Given the description of an element on the screen output the (x, y) to click on. 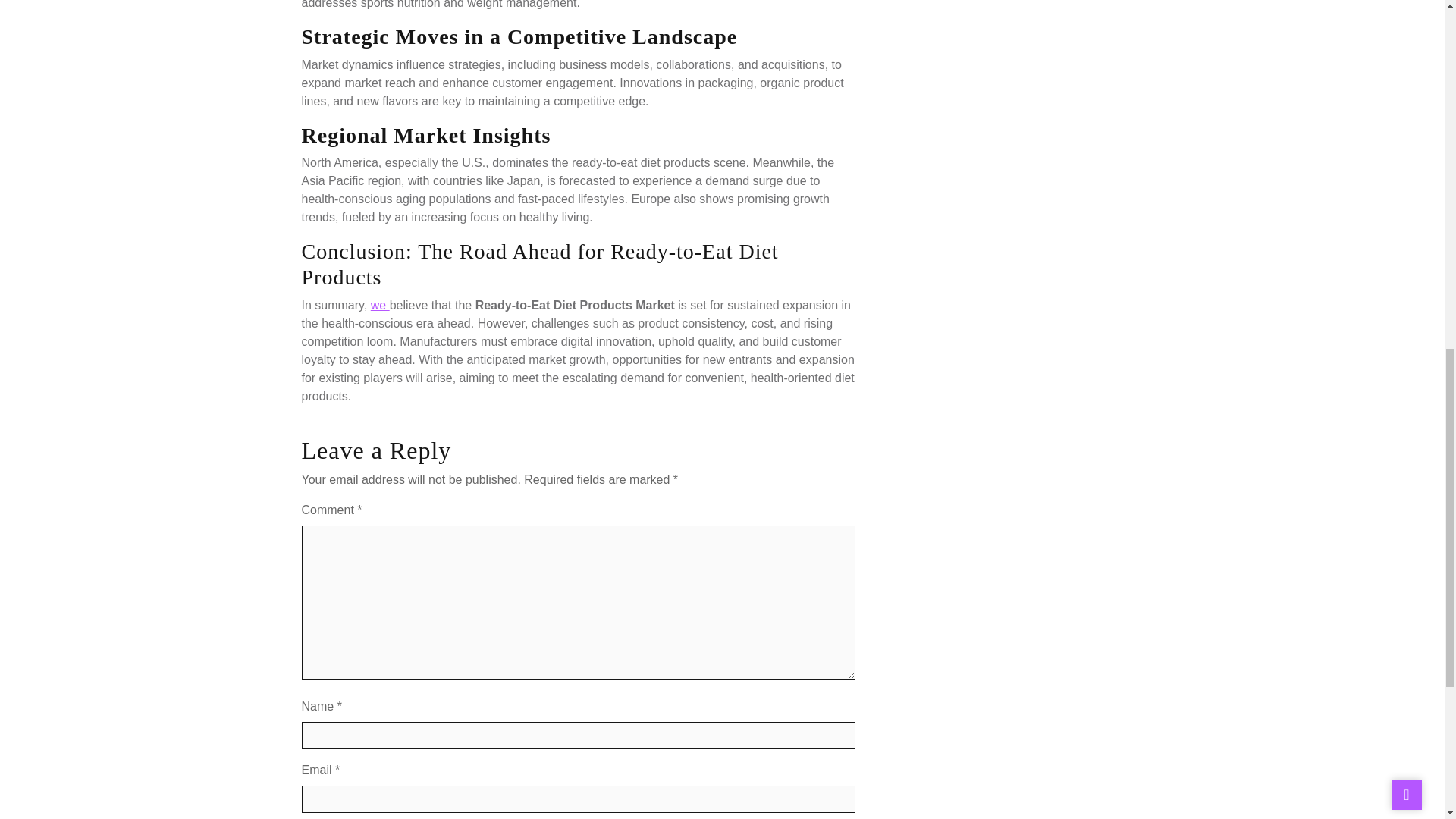
we (380, 305)
